Given the description of an element on the screen output the (x, y) to click on. 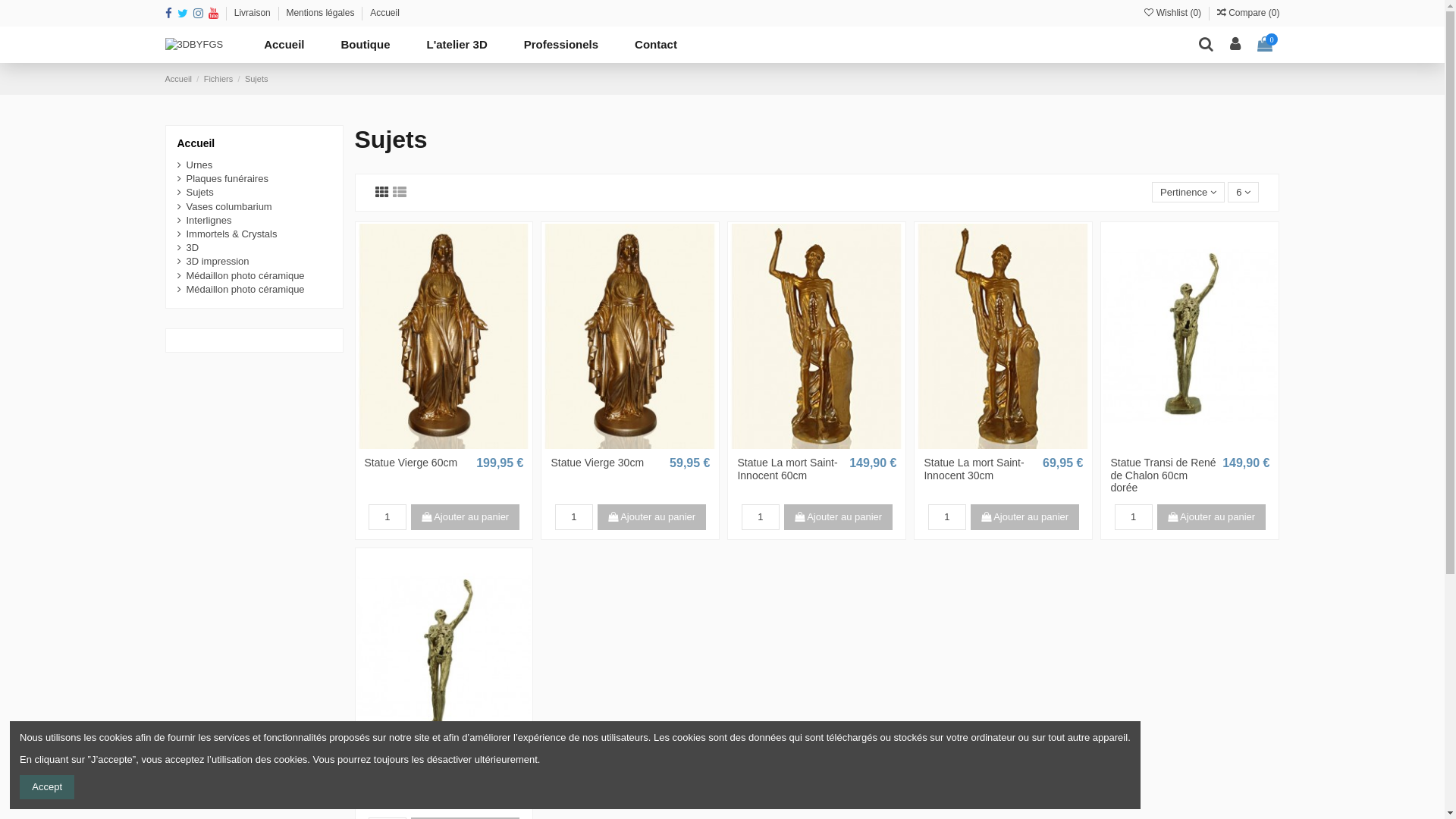
Statue Vierge 30cm Element type: text (596, 462)
Immortels & Crystals Element type: text (227, 234)
3D impression Element type: text (213, 261)
Sujets Element type: text (195, 192)
Accueil Element type: text (179, 78)
Interlignes Element type: text (204, 220)
Statue Vierge 60cm Element type: text (410, 462)
Livraison Element type: text (253, 12)
Compare (0) Element type: text (1248, 12)
Accueil Element type: text (196, 143)
Accept Element type: text (46, 787)
Ajouter au panier Element type: text (838, 516)
6 Element type: text (1243, 192)
0 Element type: text (1264, 44)
L'atelier 3D Element type: text (456, 44)
Vases columbarium Element type: text (224, 206)
Accueil Element type: text (283, 44)
Statue La mort Saint-Innocent 60cm Element type: text (787, 468)
3D Element type: text (188, 247)
Statue La mort Saint-Innocent 30cm Element type: text (973, 468)
Accueil Element type: text (384, 12)
Contact Element type: text (655, 44)
Identifiez-vous Element type: hover (1235, 44)
Fichiers Element type: text (219, 78)
Sujets Element type: text (256, 78)
Boutique Element type: text (365, 44)
Pertinence Element type: text (1188, 192)
Urnes Element type: text (195, 165)
Ajouter au panier Element type: text (465, 516)
Wishlist (0) Element type: text (1173, 12)
Professionels Element type: text (560, 44)
Ajouter au panier Element type: text (1211, 516)
Ajouter au panier Element type: text (1024, 516)
Ajouter au panier Element type: text (651, 516)
